Given the description of an element on the screen output the (x, y) to click on. 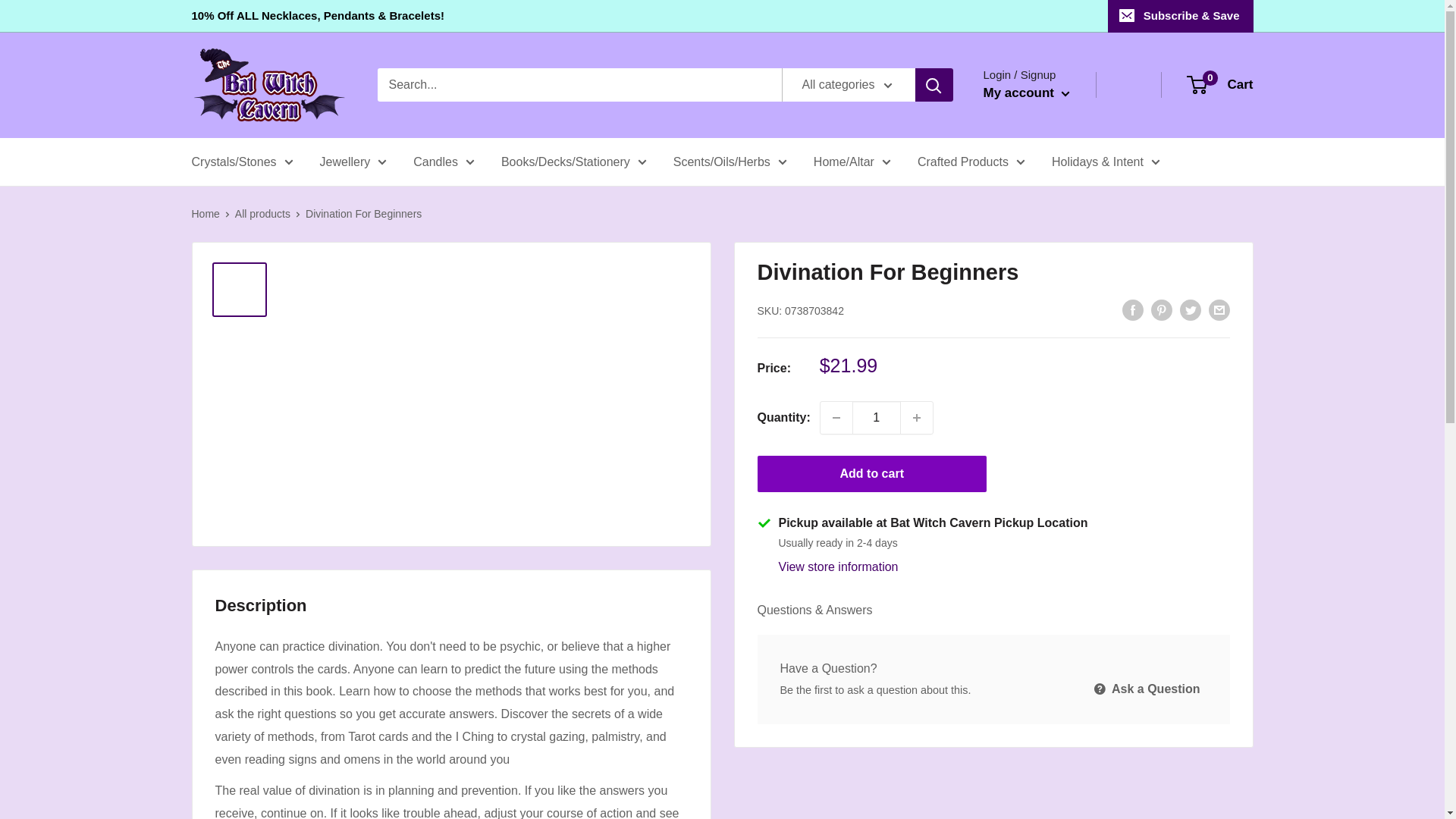
1 (876, 418)
Increase quantity by 1 (917, 418)
Decrease quantity by 1 (836, 418)
